Given the description of an element on the screen output the (x, y) to click on. 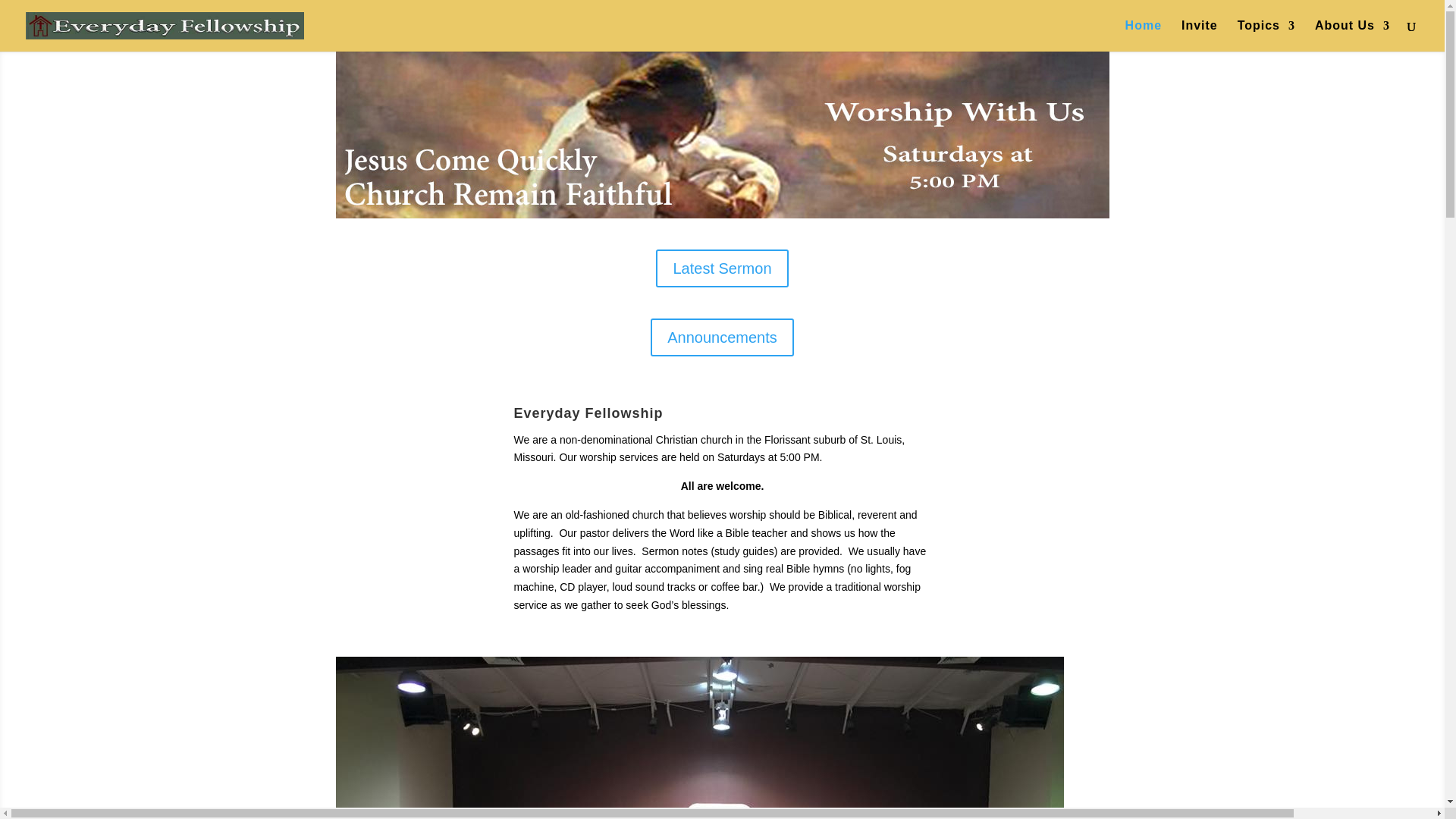
Announcements (721, 337)
About Us (1352, 35)
Home (1143, 35)
Worshp-Jesus-Come-Quickly3-1020x220 (721, 134)
Invite (1198, 35)
Latest Sermon (721, 268)
Topics (1266, 35)
